Given the description of an element on the screen output the (x, y) to click on. 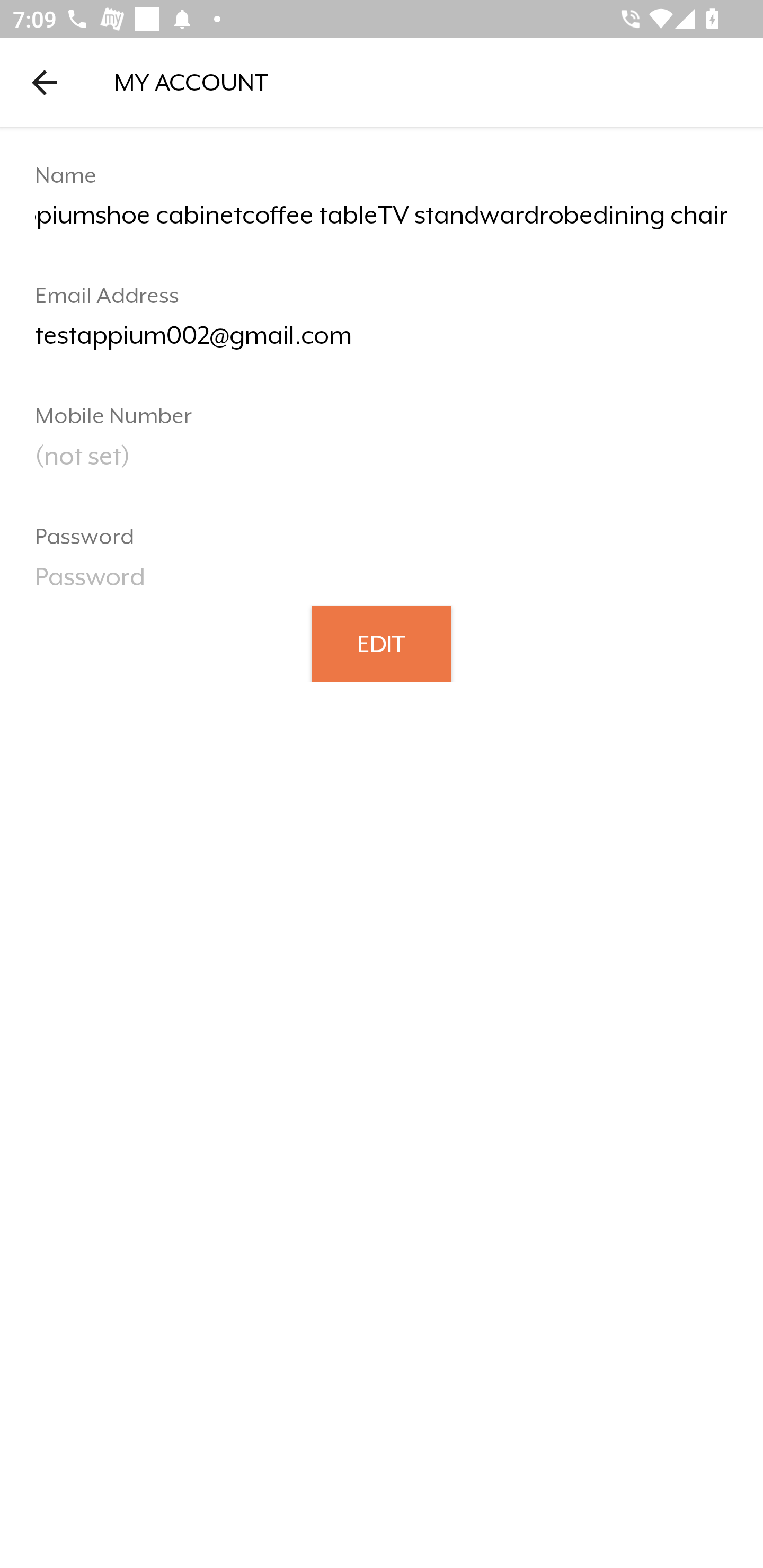
Navigate up (44, 82)
testappium002@gmail.com (381, 342)
Password (381, 583)
EDIT (381, 643)
